Given the description of an element on the screen output the (x, y) to click on. 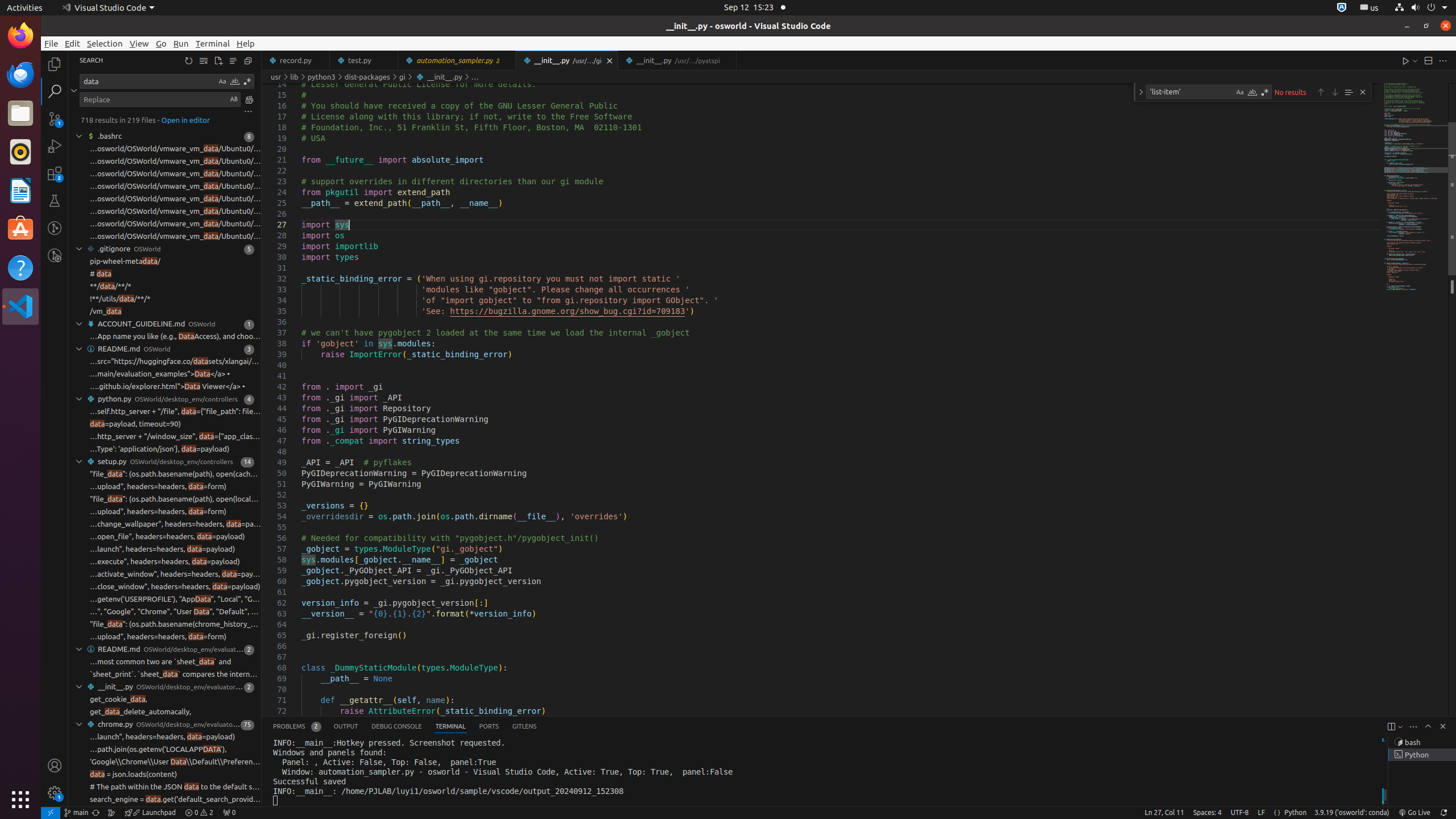
2 matches in file README.md of folder OSWorld/desktop_env/evaluators, Search result Element type: tree-item (164, 648)
 Element type: push-button (73, 89)
' response = requests.post(self.http_server + "/setup" + "/activate_window", headers=headers, data=payload)' at column 105 found data Element type: tree-item (164, 573)
Selection Element type: push-button (104, 43)
' <a href="https://github.com/xlang-ai/OSWorld/tree/main/evaluation_examples">Data</a> •' at column 79 found Data Element type: tree-item (164, 373)
